Given the description of an element on the screen output the (x, y) to click on. 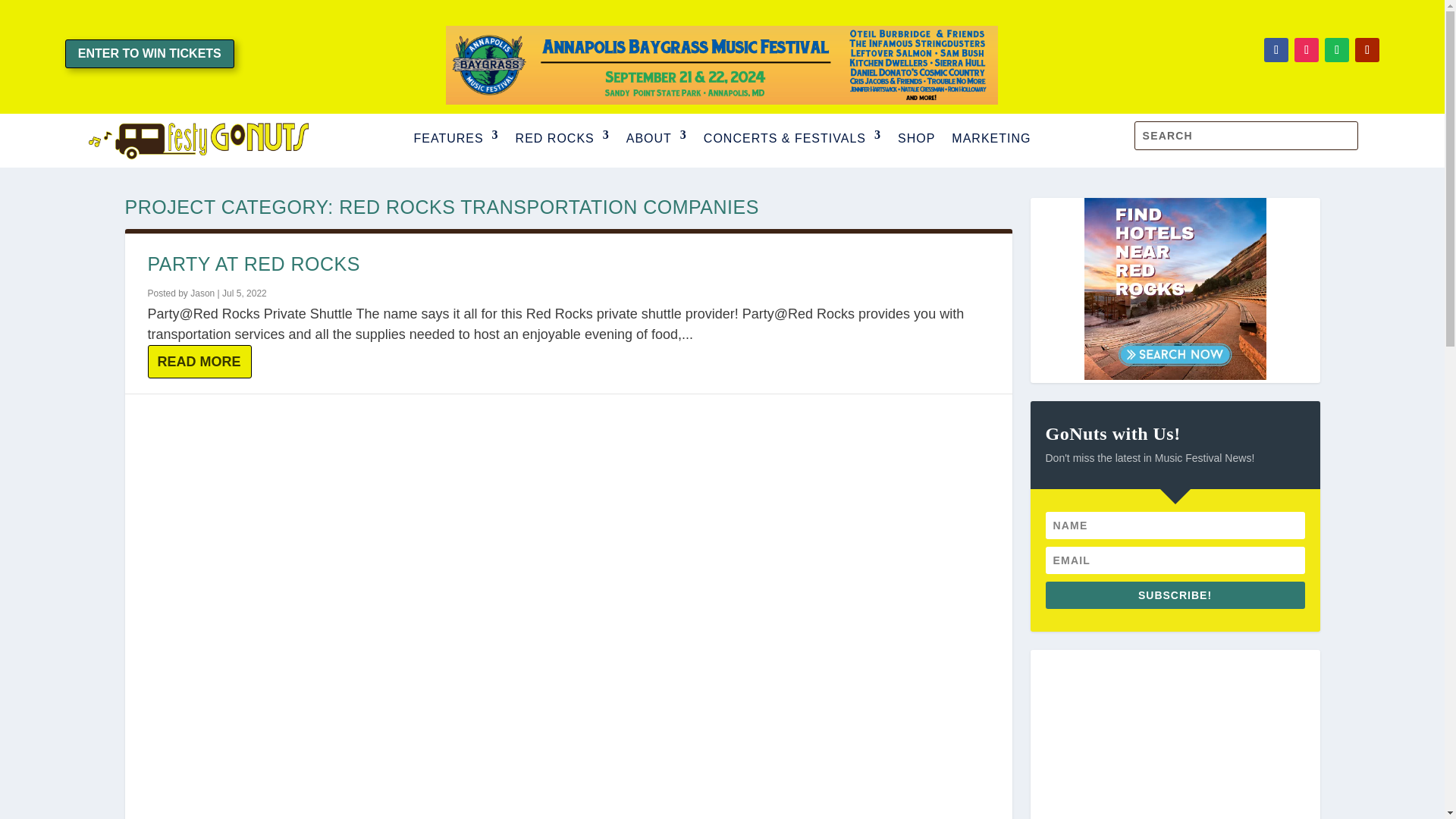
ABOUT (656, 139)
RED ROCKS (562, 139)
Posts by Jason (202, 293)
FEATURES (455, 139)
ENTER TO WIN TICKETS (149, 53)
Spotify Embed: GoNuts for New Music: Summer 2024 (1174, 734)
Follow on Youtube (1366, 49)
Follow on Facebook (1275, 49)
Festy GoNuts (197, 140)
Follow on Spotify (1336, 49)
Follow on Instagram (1306, 49)
